Given the description of an element on the screen output the (x, y) to click on. 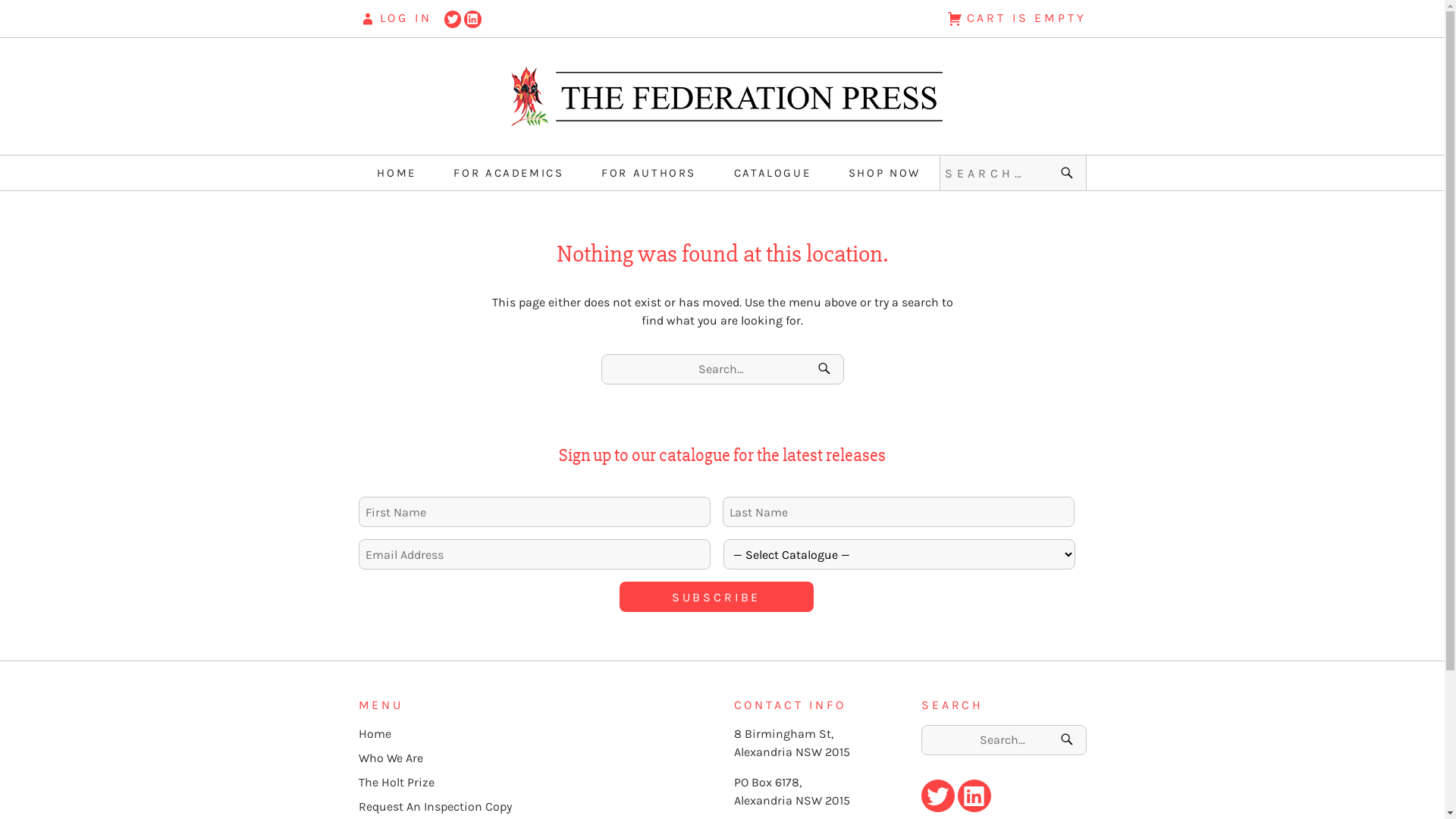
FOR ACADEMICS Element type: text (508, 172)
FOR AUTHORS Element type: text (648, 172)
Subscribe Element type: text (715, 596)
Search Element type: hover (1068, 739)
Search Element type: hover (1068, 172)
HOME Element type: text (396, 172)
CART IS EMPTY Element type: text (783, 18)
Request An Inspection Copy Element type: text (434, 806)
SHOP NOW Element type: text (884, 172)
LOG IN Element type: text (394, 18)
Search Element type: hover (826, 369)
Return to homepage Element type: hover (721, 96)
CATALOGUE Element type: text (772, 172)
The Holt Prize Element type: text (395, 782)
Who We Are Element type: text (389, 757)
Home Element type: text (373, 733)
